Given the description of an element on the screen output the (x, y) to click on. 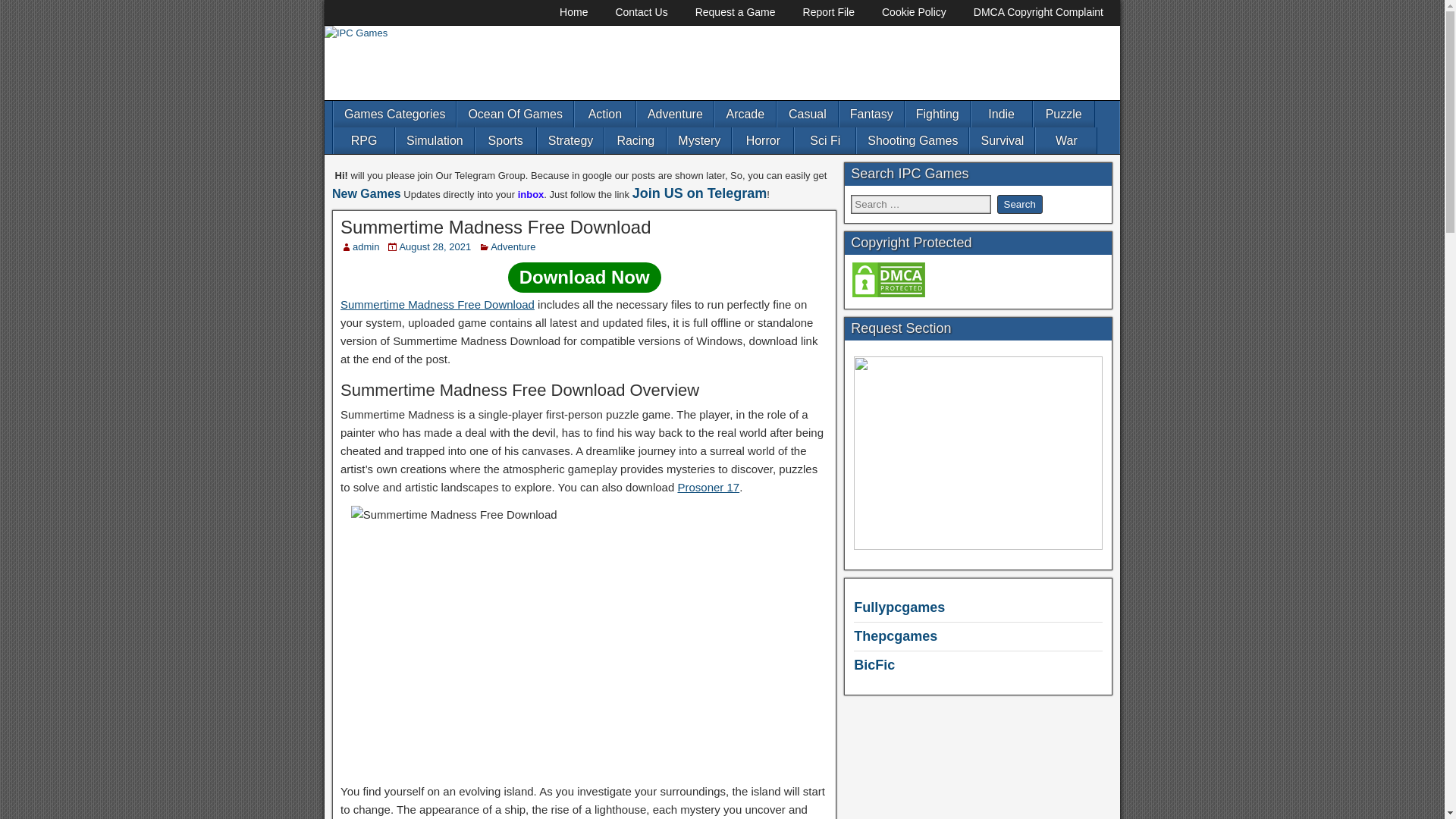
Shooting Games (912, 140)
Survival (1001, 140)
Sci Fi (825, 140)
Fantasy (872, 113)
Home (573, 12)
Download Now (584, 277)
Summertime Madness Free Download (495, 227)
Prosoner 17 (708, 486)
DMCA Copyright Complaint (1037, 12)
Arcade (745, 113)
Mystery (698, 140)
Fighting (937, 113)
Ocean Of Games (515, 113)
Games Categories (394, 113)
August 28, 2021 (434, 246)
